Given the description of an element on the screen output the (x, y) to click on. 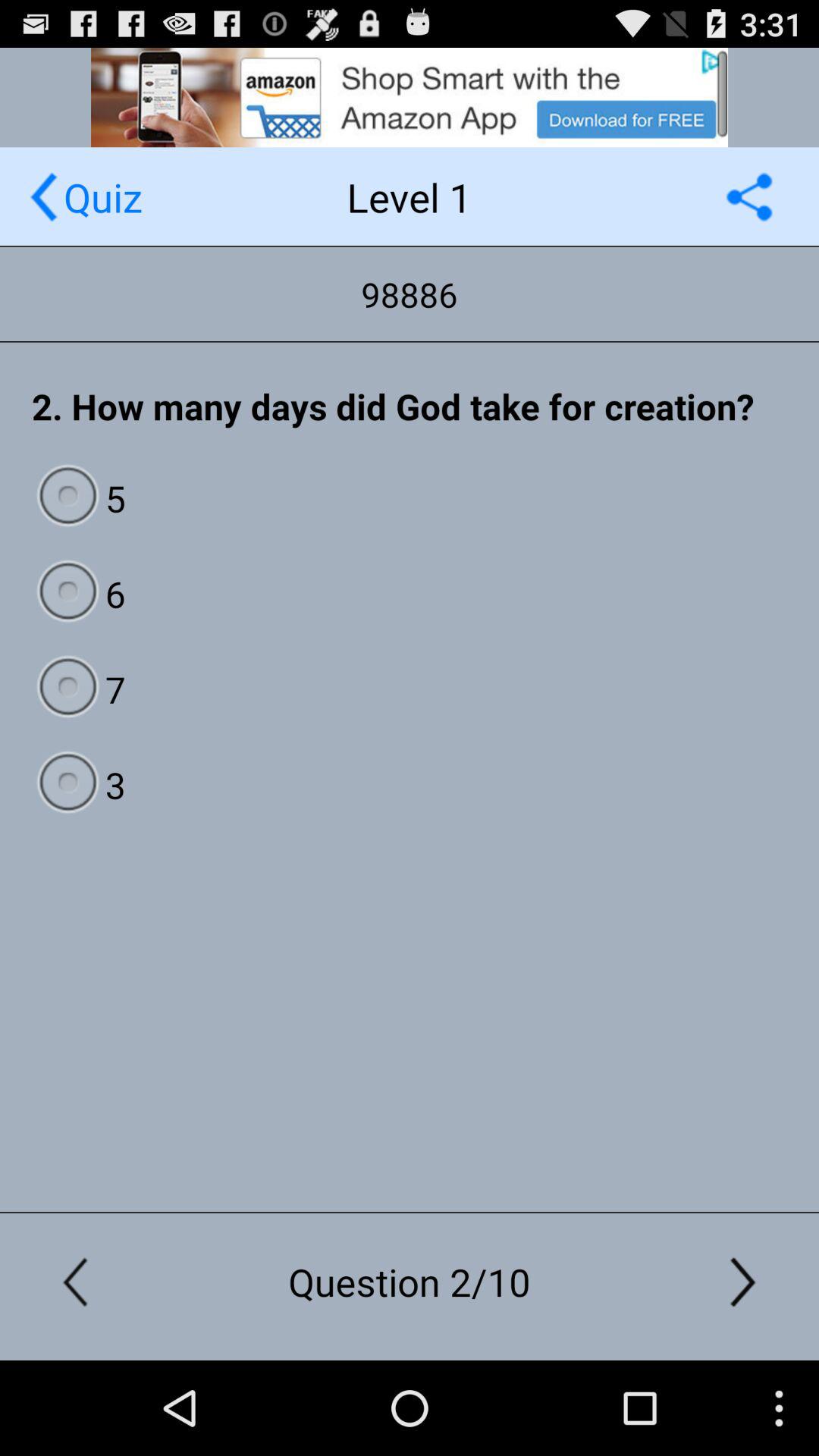
shows the share option (749, 196)
